Given the description of an element on the screen output the (x, y) to click on. 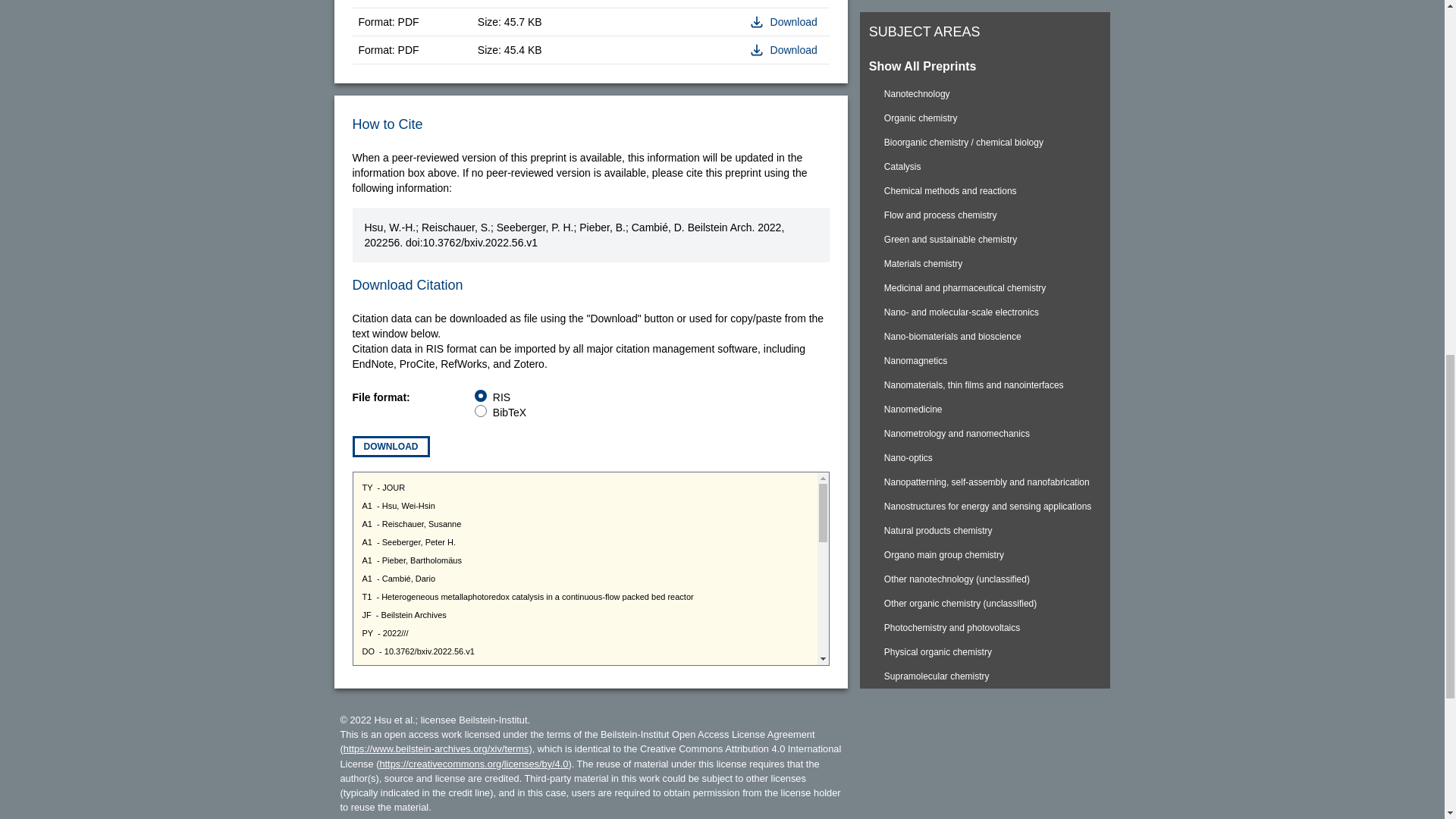
bib (480, 410)
ris (480, 395)
